Given the description of an element on the screen output the (x, y) to click on. 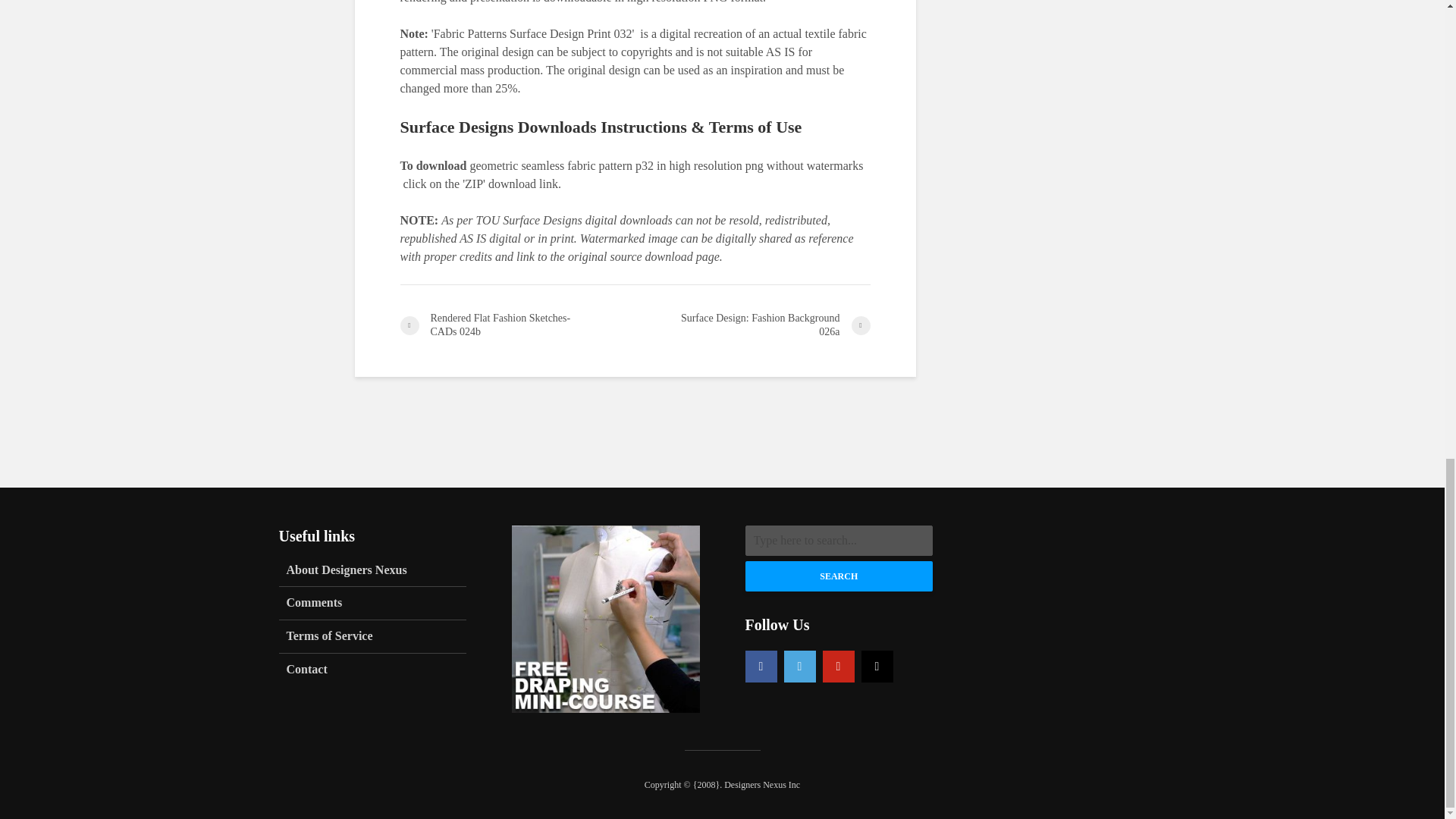
Instagram (877, 666)
Twitter (799, 666)
Pinterest (837, 666)
Facebook (760, 666)
